Given the description of an element on the screen output the (x, y) to click on. 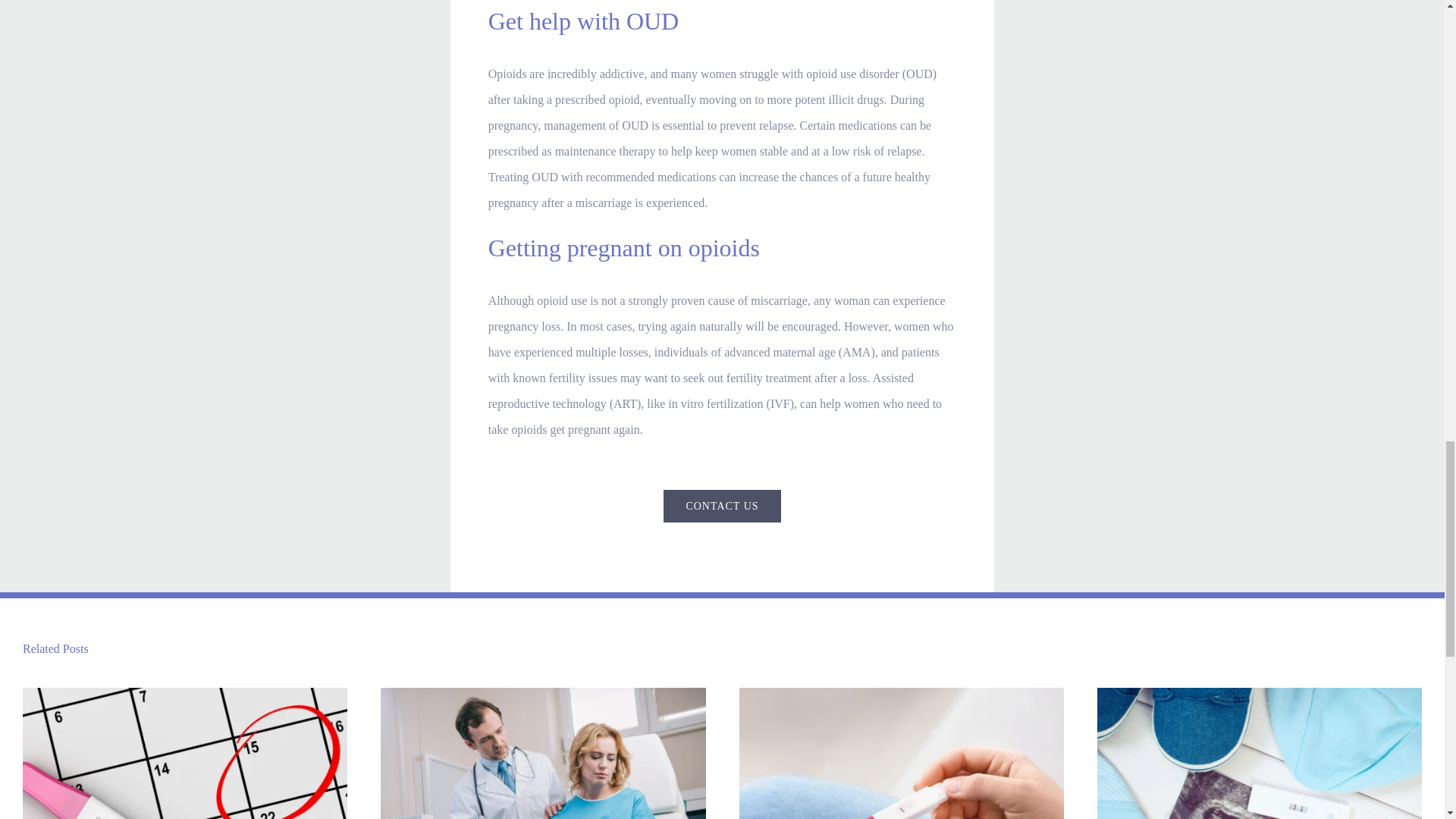
CONTACT US (721, 505)
